Given the description of an element on the screen output the (x, y) to click on. 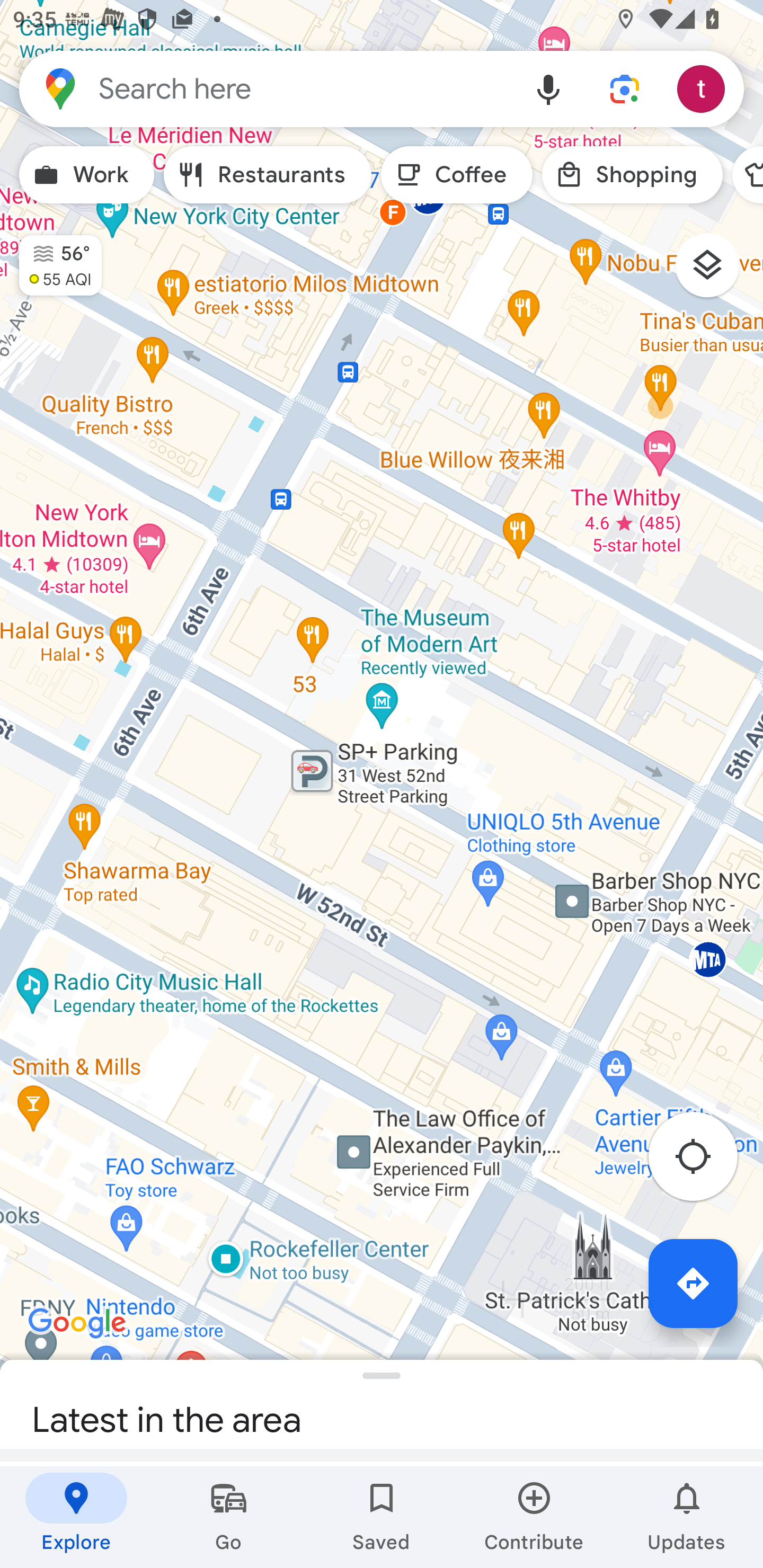
Search here (264, 88)
Voice search (548, 88)
Lens in Maps (624, 88)
Account and settings. (703, 88)
Work (86, 174)
Restaurants Search for Restaurants (267, 174)
Coffee Search for Coffee (456, 174)
Shopping Search for Shopping (631, 174)
Mist, 56°, Moderate, 55 AQI 56° 55 AQI (50, 257)
Layers (716, 271)
Re-center map to your location (702, 1161)
Directions (692, 1283)
Go (228, 1517)
Saved (381, 1517)
Contribute (533, 1517)
Updates (686, 1517)
